Given the description of an element on the screen output the (x, y) to click on. 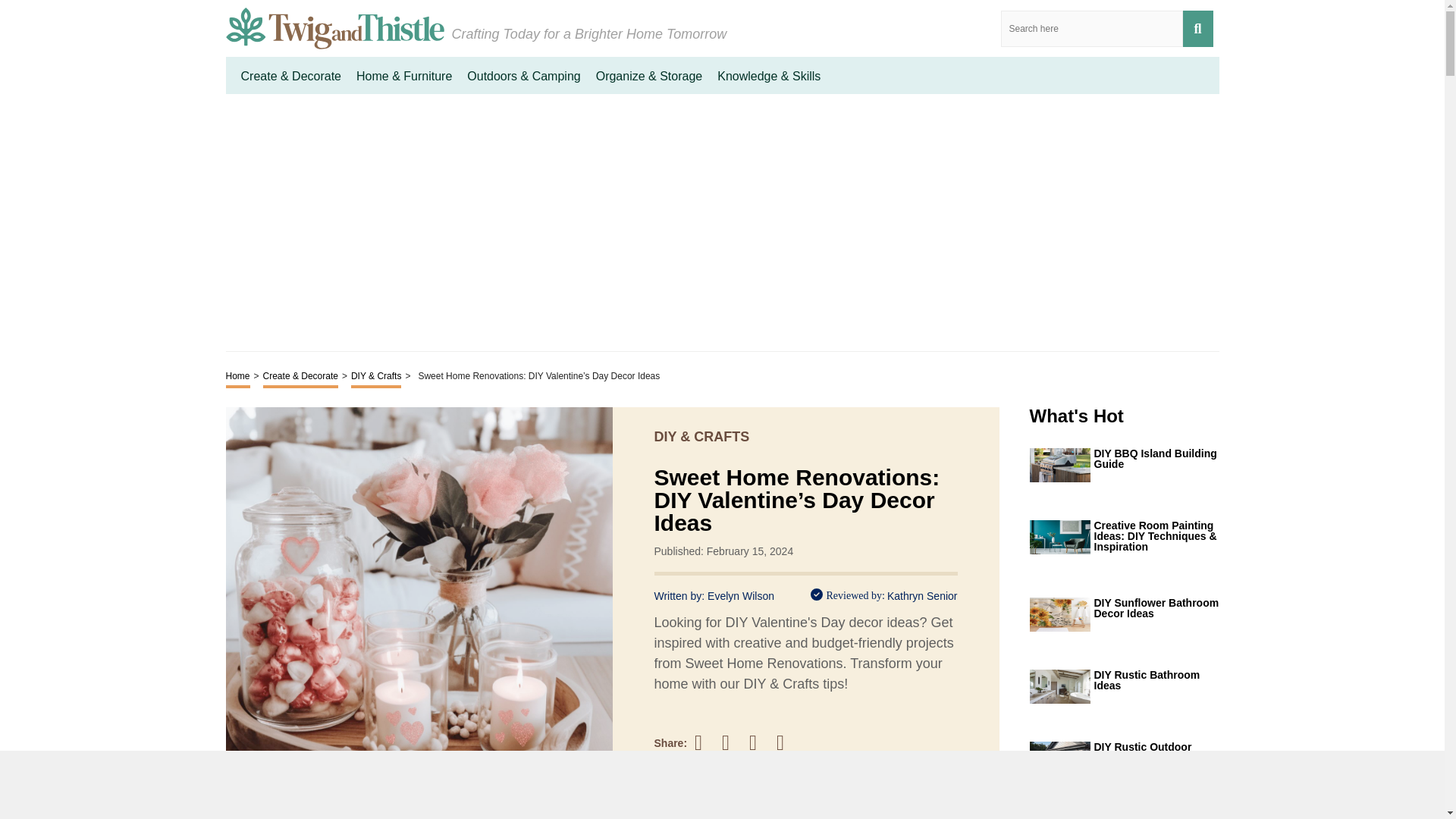
Share on Facebook (705, 742)
Share on Pinterest (759, 742)
Share on WhatsApp (786, 742)
Share on Twitter (732, 742)
